Given the description of an element on the screen output the (x, y) to click on. 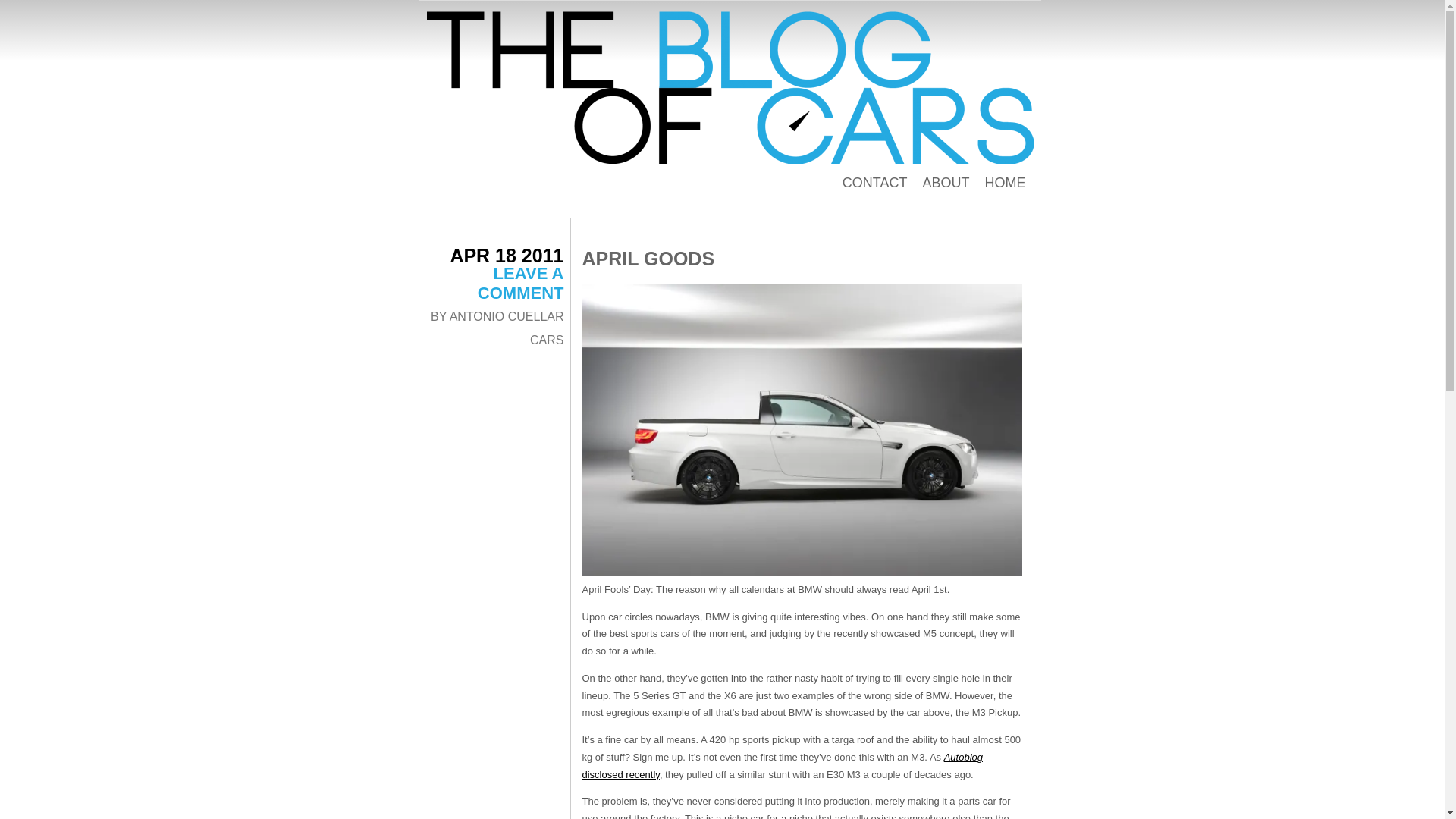
ABOUT (945, 182)
Autoblog disclosed recently (783, 765)
HOME (1004, 182)
APR 18 2011 (506, 255)
CARS (546, 339)
CONTACT (875, 182)
BMW M3 Pickup (802, 430)
LEAVE A COMMENT (520, 282)
BY ANTONIO CUELLAR (496, 316)
